Given the description of an element on the screen output the (x, y) to click on. 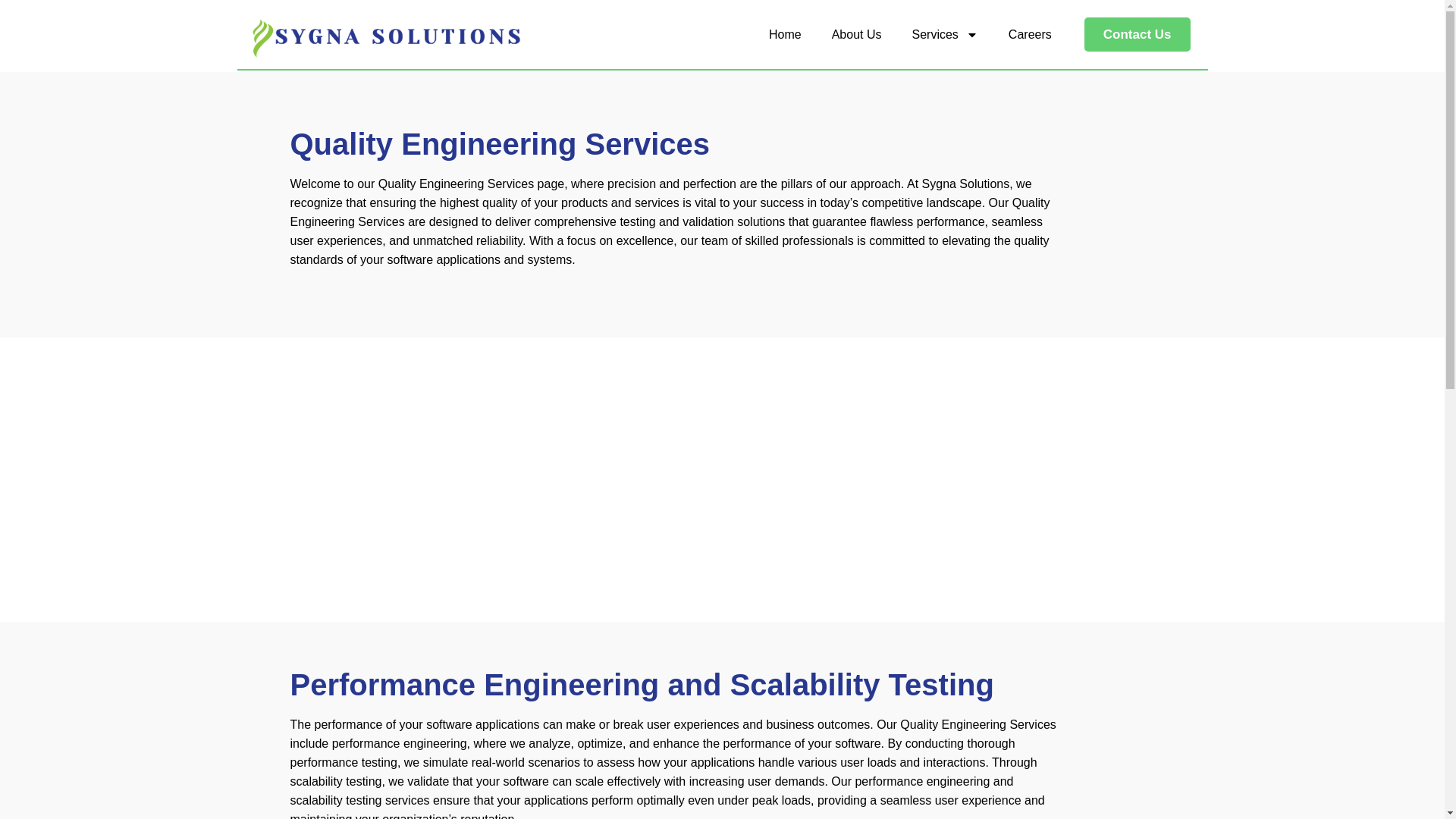
Services (944, 33)
Careers (1029, 33)
Home (785, 33)
Contact Us (1136, 34)
About Us (856, 33)
